Given the description of an element on the screen output the (x, y) to click on. 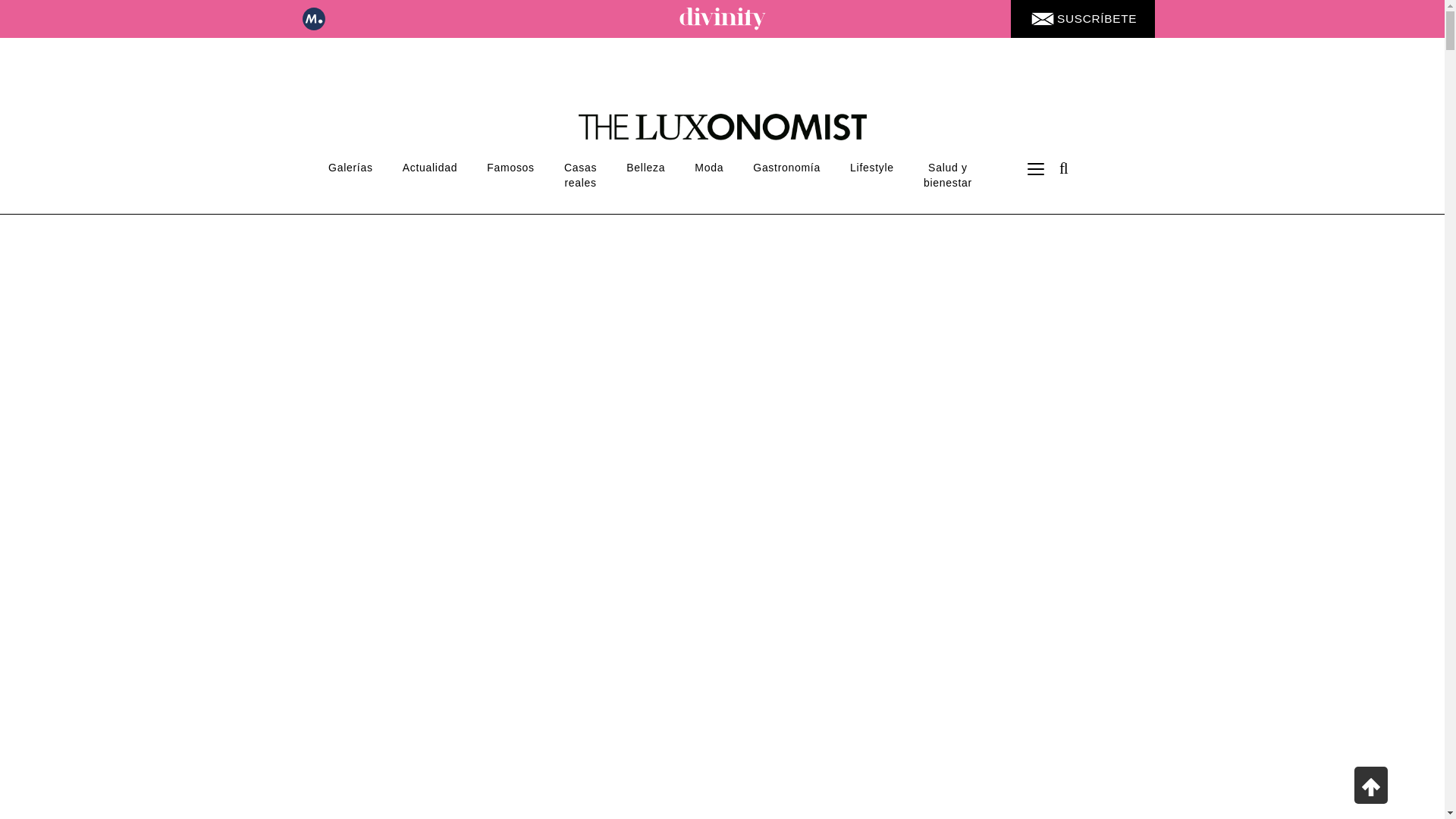
CASAS REALES (579, 175)
ACTUALIDAD (429, 167)
FAMOSOS (510, 167)
BELLEZA (645, 167)
